Given the description of an element on the screen output the (x, y) to click on. 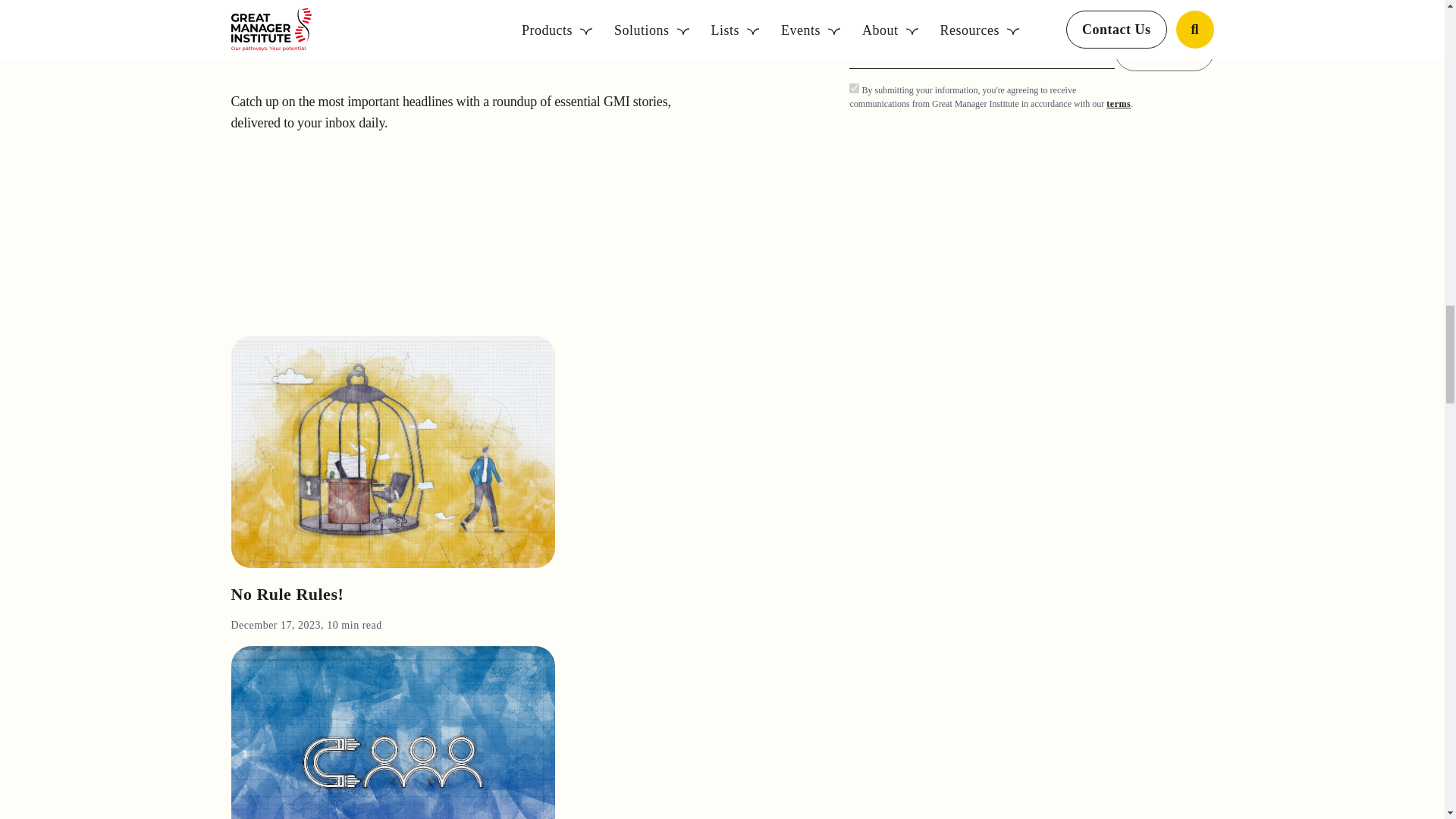
on (853, 88)
Submit (1163, 51)
